Given the description of an element on the screen output the (x, y) to click on. 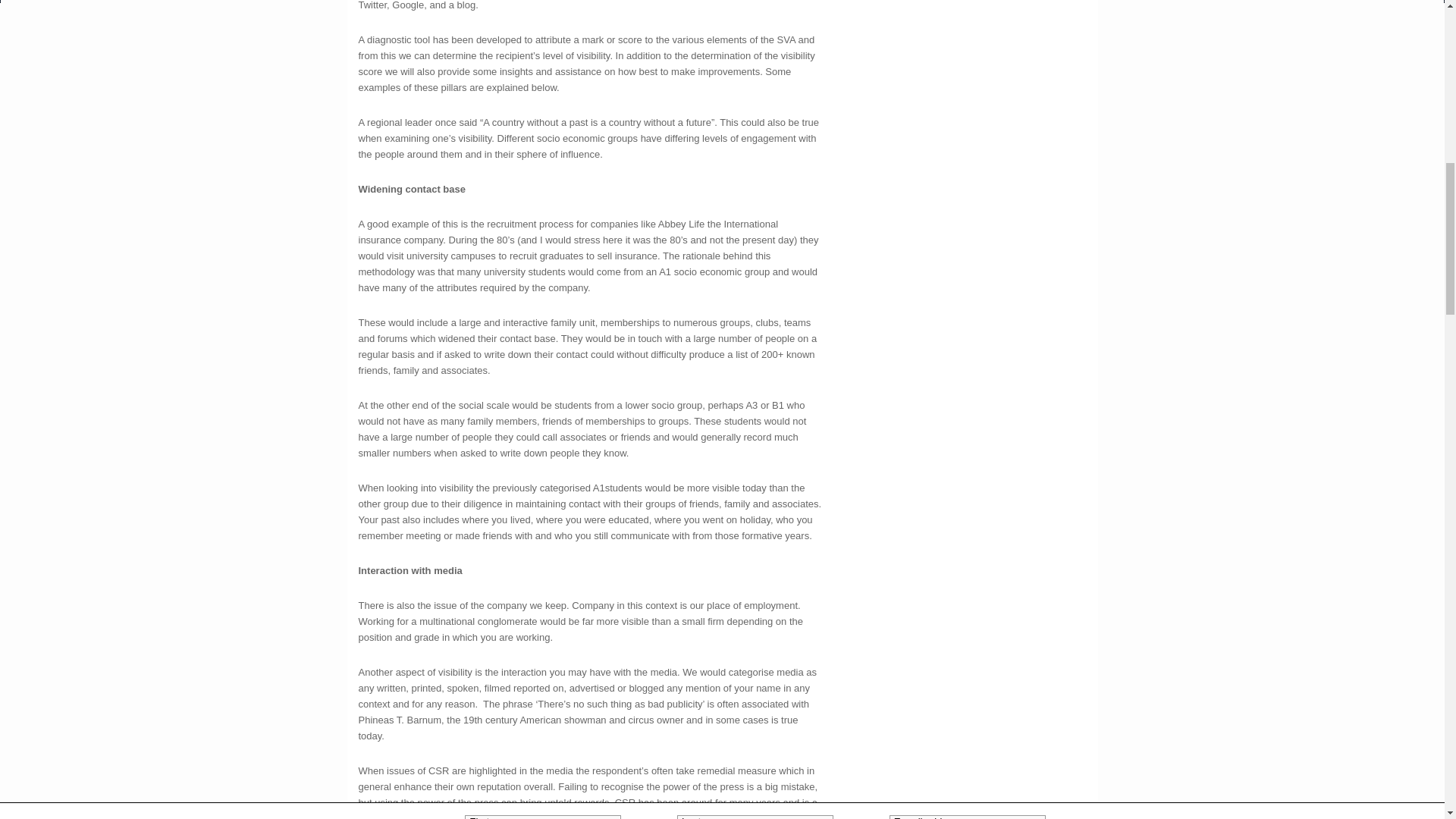
1 (469, 40)
Subscribe (1076, 23)
